Given the description of an element on the screen output the (x, y) to click on. 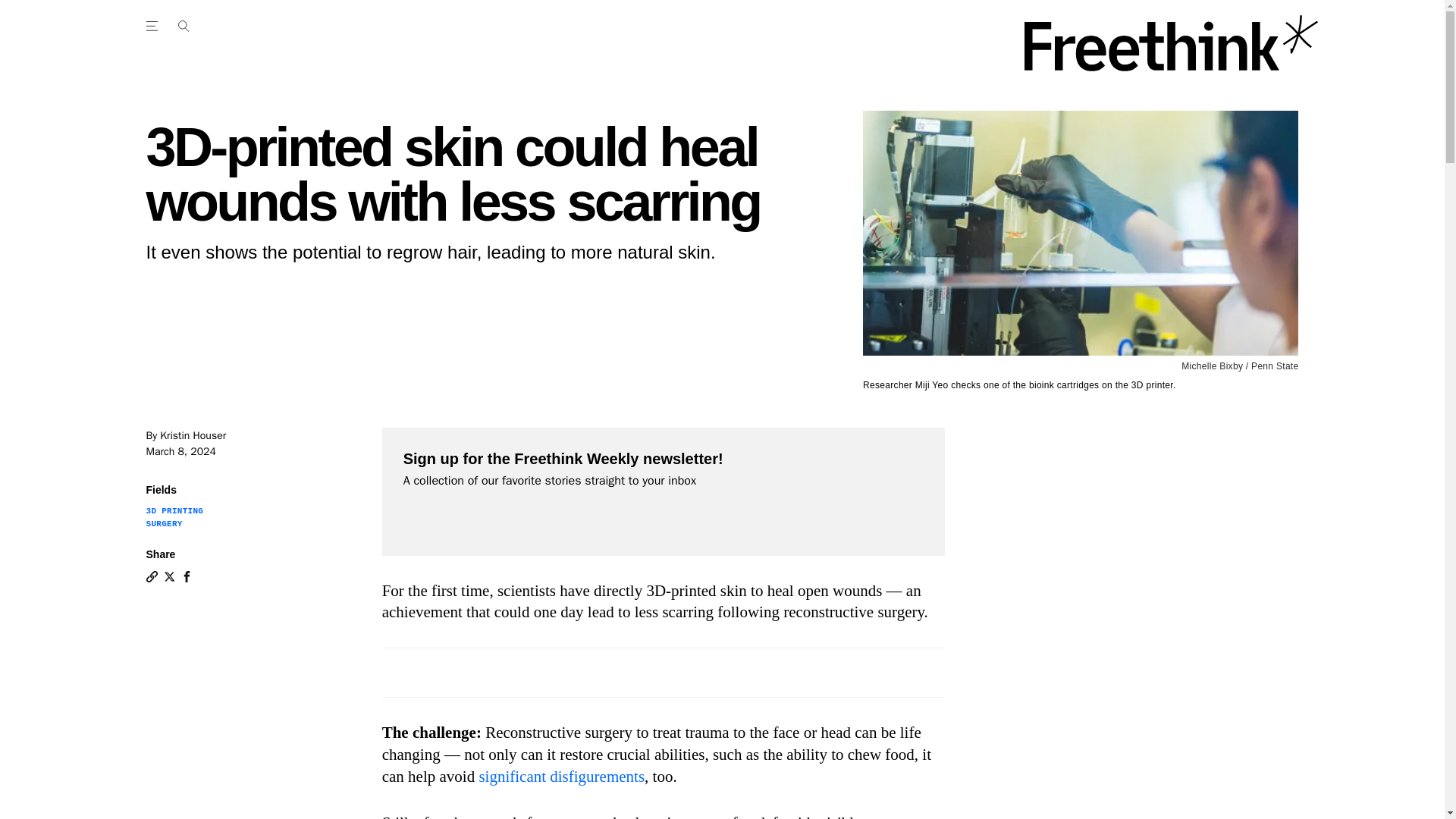
SURGERY (163, 523)
Open the Main Navigation Menu (153, 26)
Kristin Houser (192, 435)
Open the Main Navigation Menu (182, 26)
3D PRINTING (174, 510)
